Given the description of an element on the screen output the (x, y) to click on. 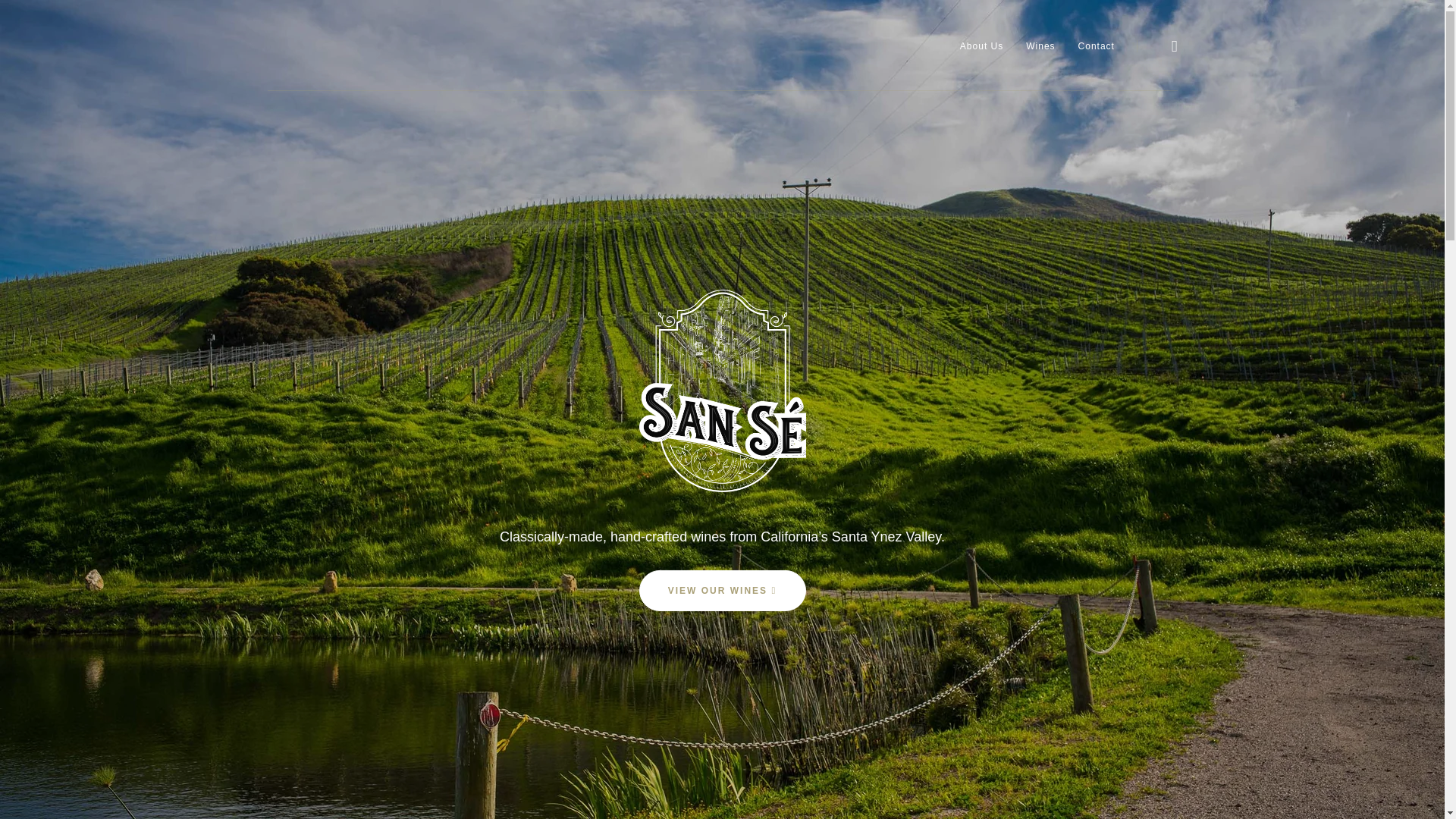
VIEW OUR WINES (722, 590)
Contact (1096, 46)
Wines (1040, 46)
About Us (981, 46)
